Given the description of an element on the screen output the (x, y) to click on. 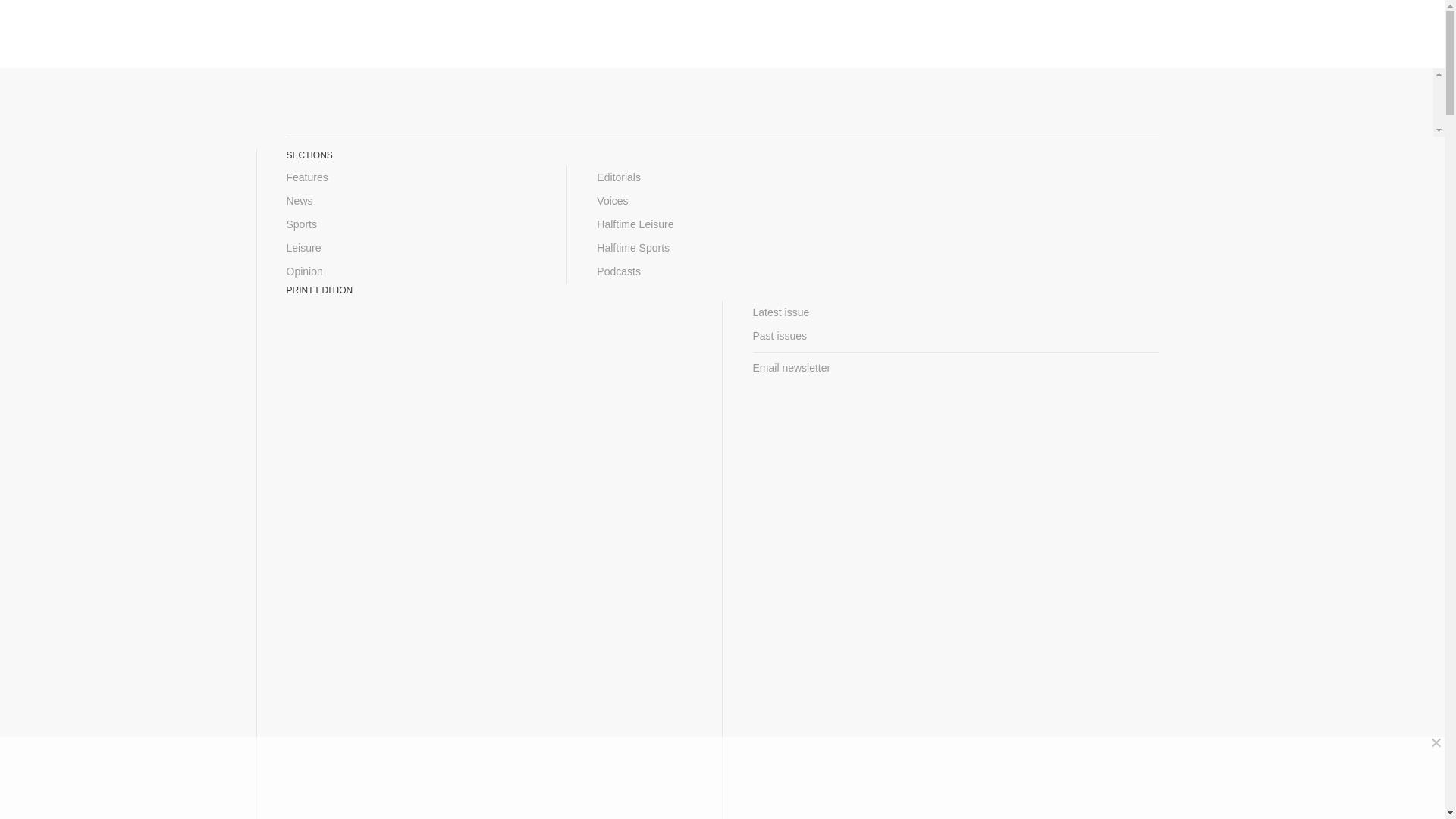
Halftime Sports (721, 248)
Podcasts (721, 271)
Opinion (411, 271)
Past issues (954, 336)
Halftime Leisure (721, 224)
Features (411, 177)
News (411, 200)
Leisure (411, 248)
Email newsletter (954, 368)
Sports (411, 224)
